Given the description of an element on the screen output the (x, y) to click on. 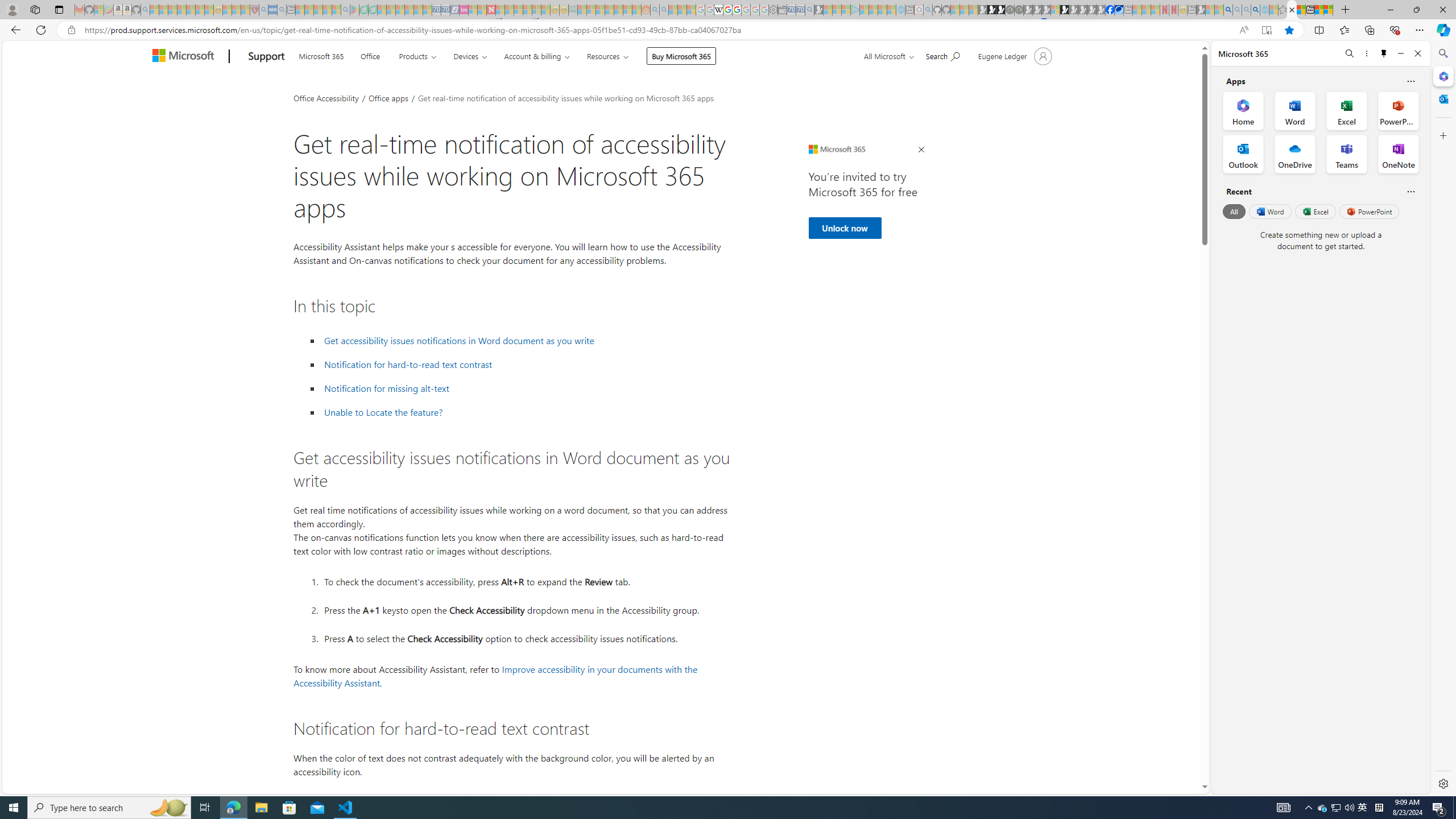
Search for help (942, 54)
Unable to Locate the feature? (525, 412)
Is this helpful? (1410, 191)
